Given the description of an element on the screen output the (x, y) to click on. 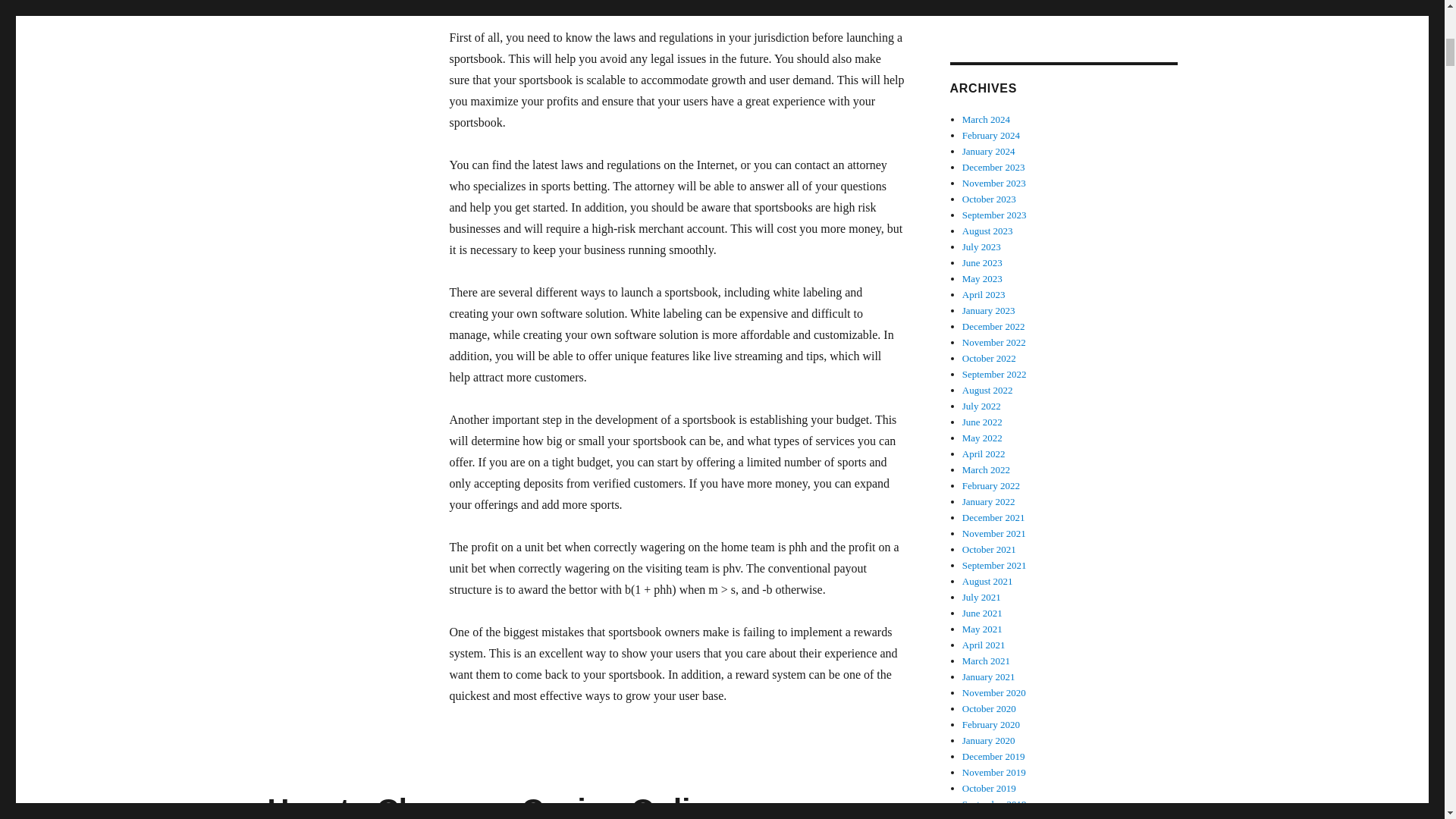
How to Choose a Casino Online (495, 806)
